Given the description of an element on the screen output the (x, y) to click on. 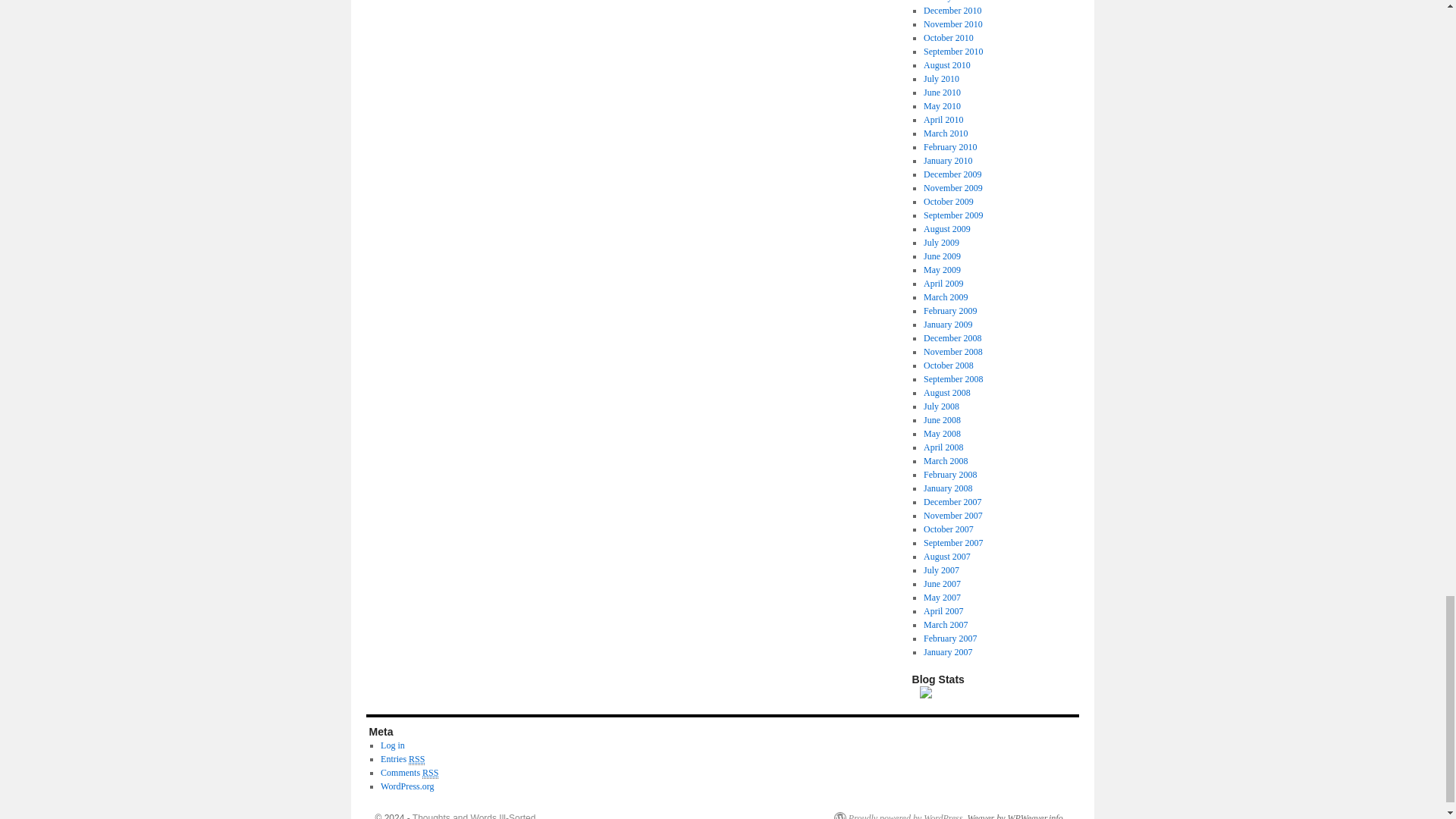
Really Simple Syndication (430, 772)
Really Simple Syndication (417, 758)
